Given the description of an element on the screen output the (x, y) to click on. 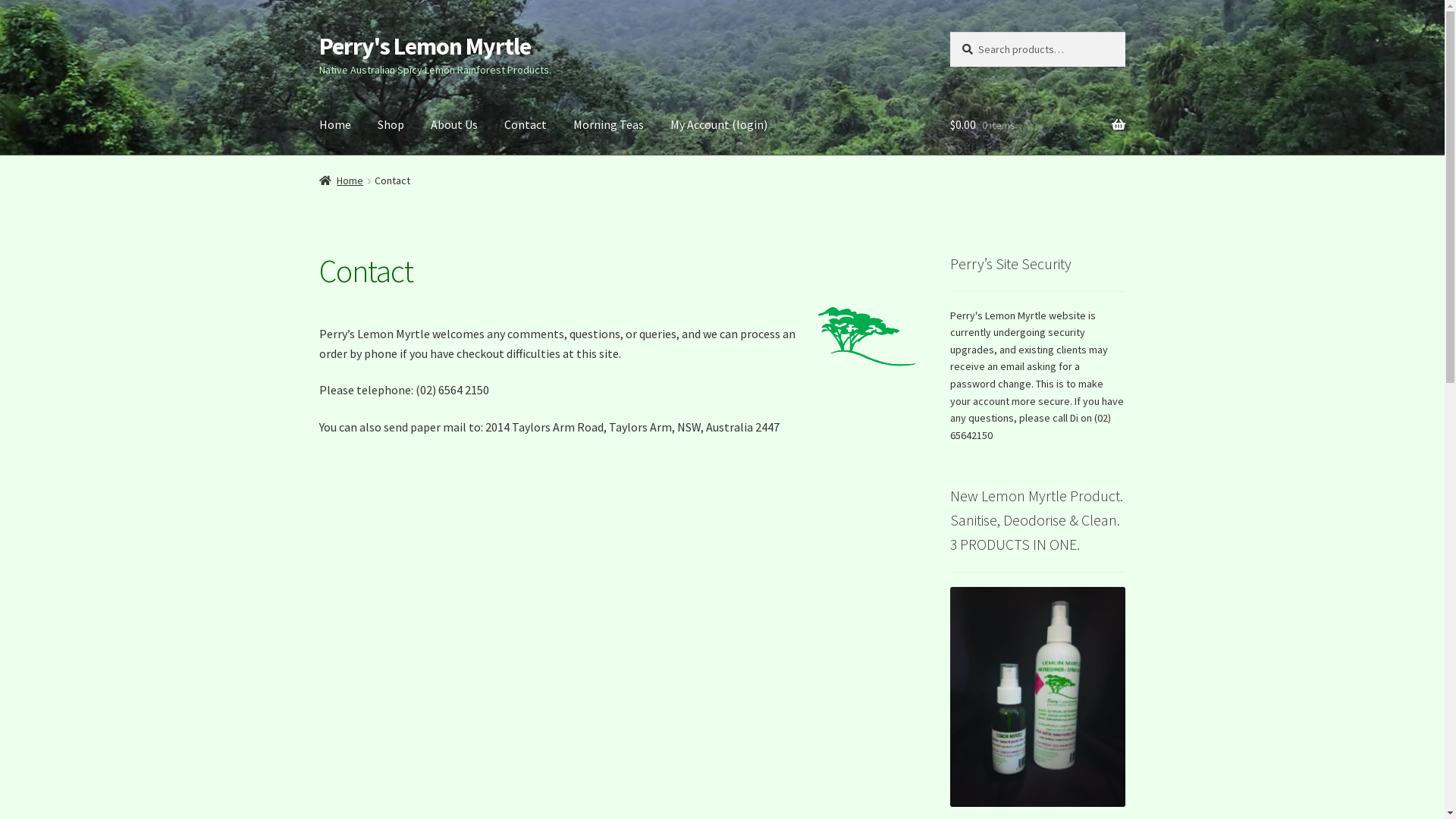
$0.00 0 items Element type: text (1037, 124)
Home Element type: text (341, 180)
Morning Teas Element type: text (608, 124)
Perry's Lemon Myrtle Element type: text (424, 46)
Skip to navigation Element type: text (318, 31)
My Account (login) Element type: text (718, 124)
Home Element type: text (335, 124)
About Us Element type: text (453, 124)
Search Element type: text (949, 31)
Contact Element type: text (525, 124)
Shop Element type: text (390, 124)
